Given the description of an element on the screen output the (x, y) to click on. 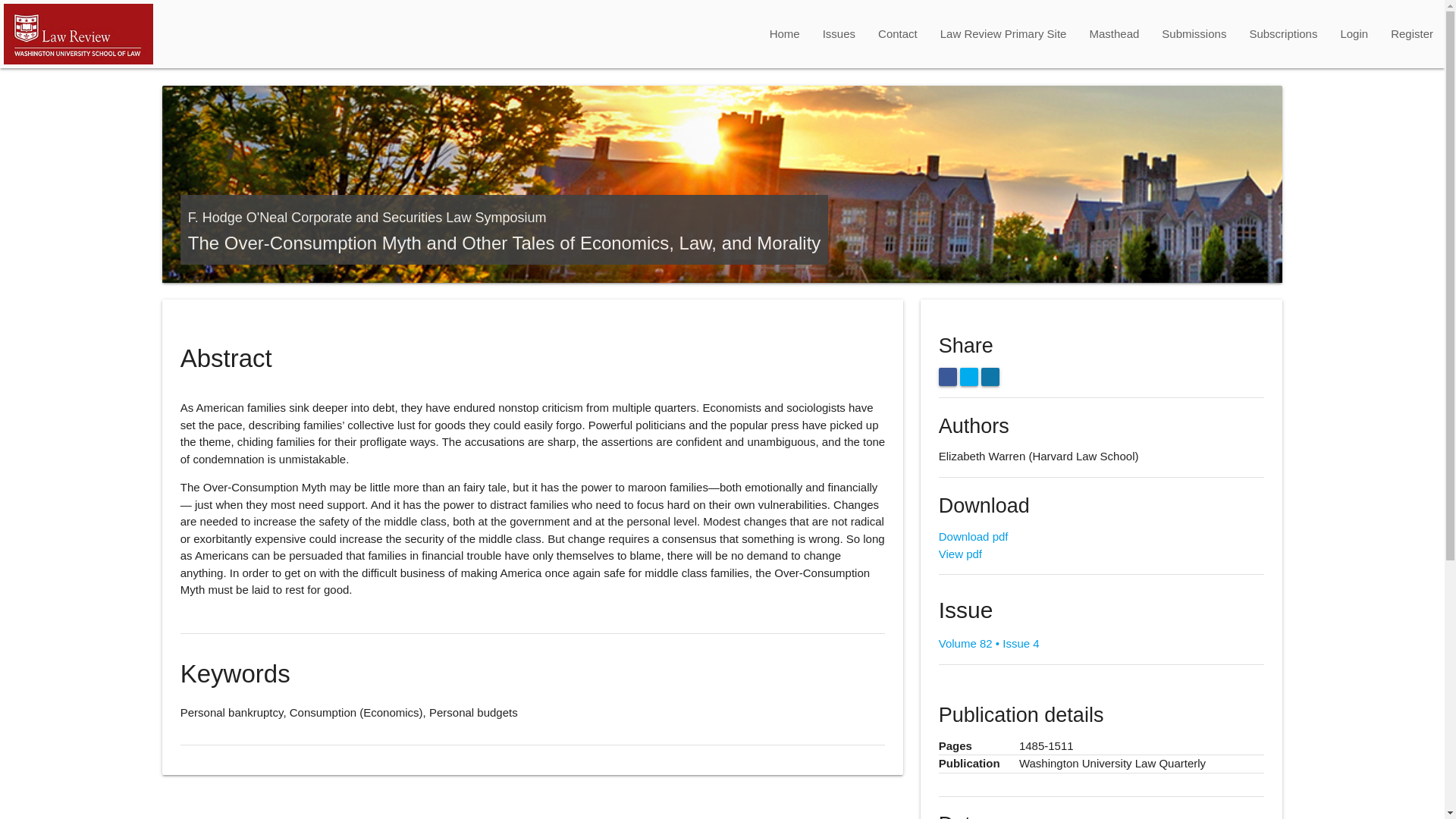
View pdf (960, 553)
Contact (897, 33)
Submissions (1193, 33)
Masthead (1113, 33)
Download pdf (974, 535)
Subscriptions (1282, 33)
Law Review Primary Site (1003, 33)
